Given the description of an element on the screen output the (x, y) to click on. 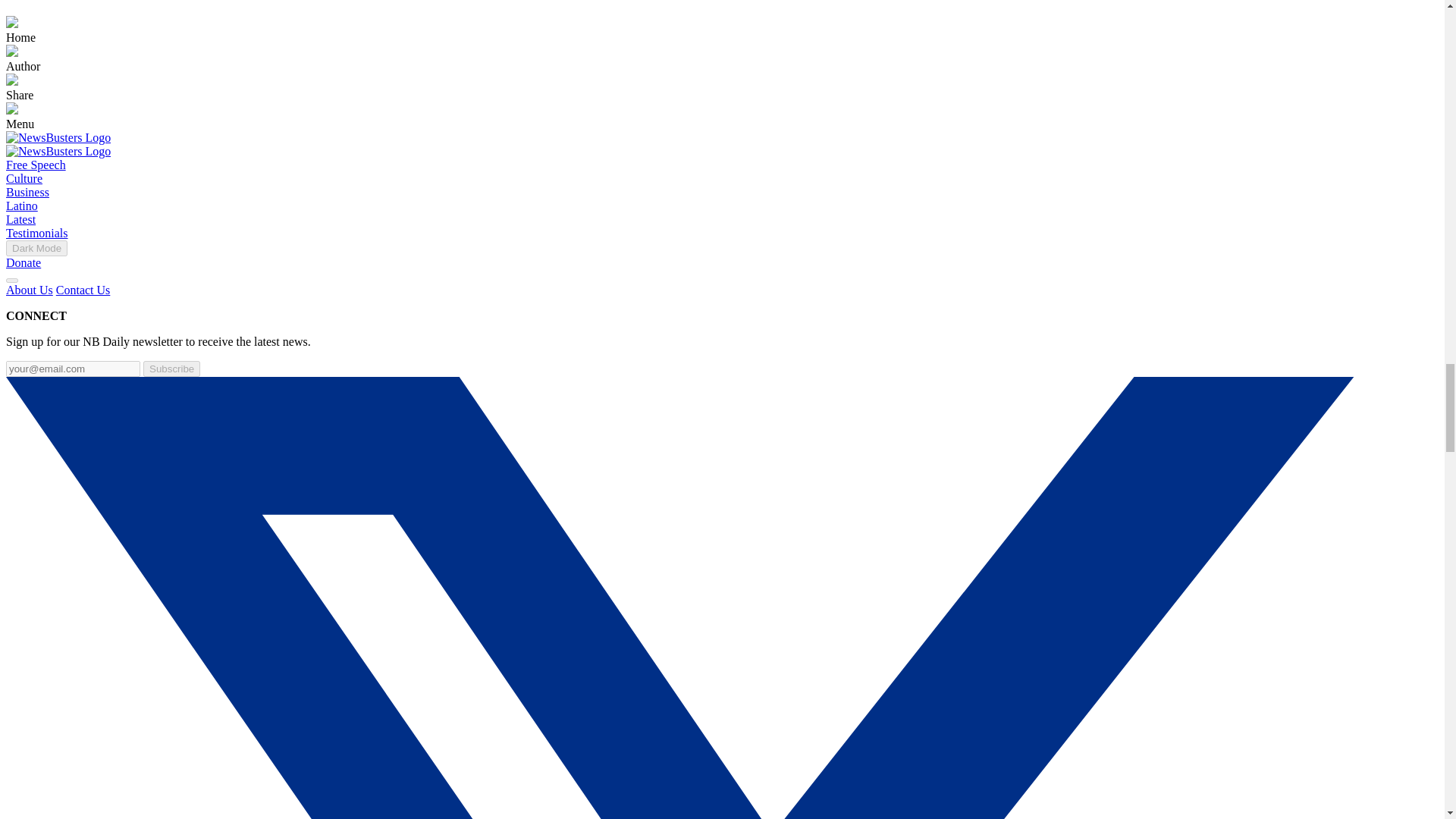
Dark Mode (35, 248)
Donate (22, 262)
Testimonials (36, 232)
